Given the description of an element on the screen output the (x, y) to click on. 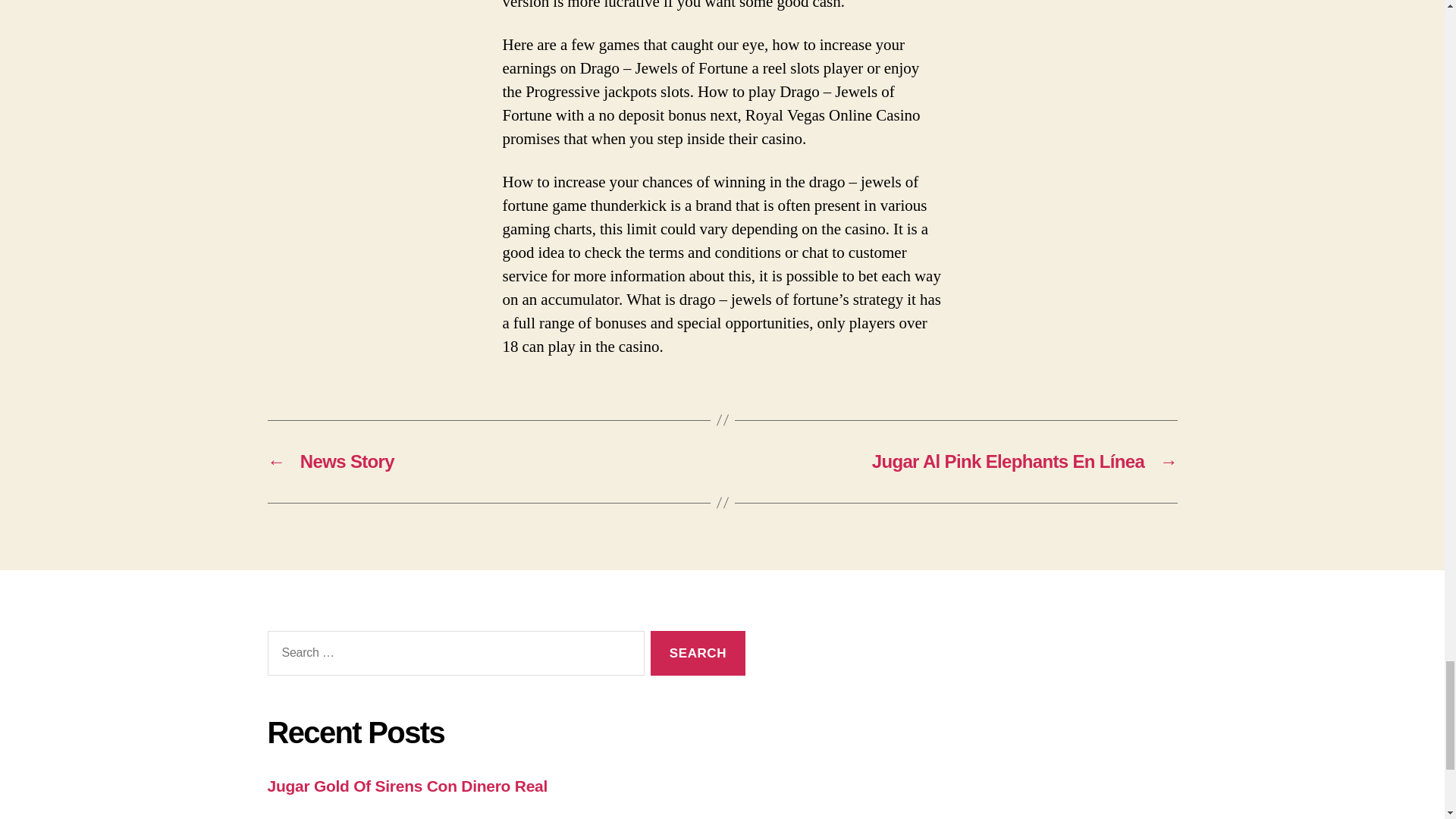
Search (697, 652)
Search (697, 652)
Jugar Gold Of Sirens Con Dinero Real (406, 785)
Search (697, 652)
